Given the description of an element on the screen output the (x, y) to click on. 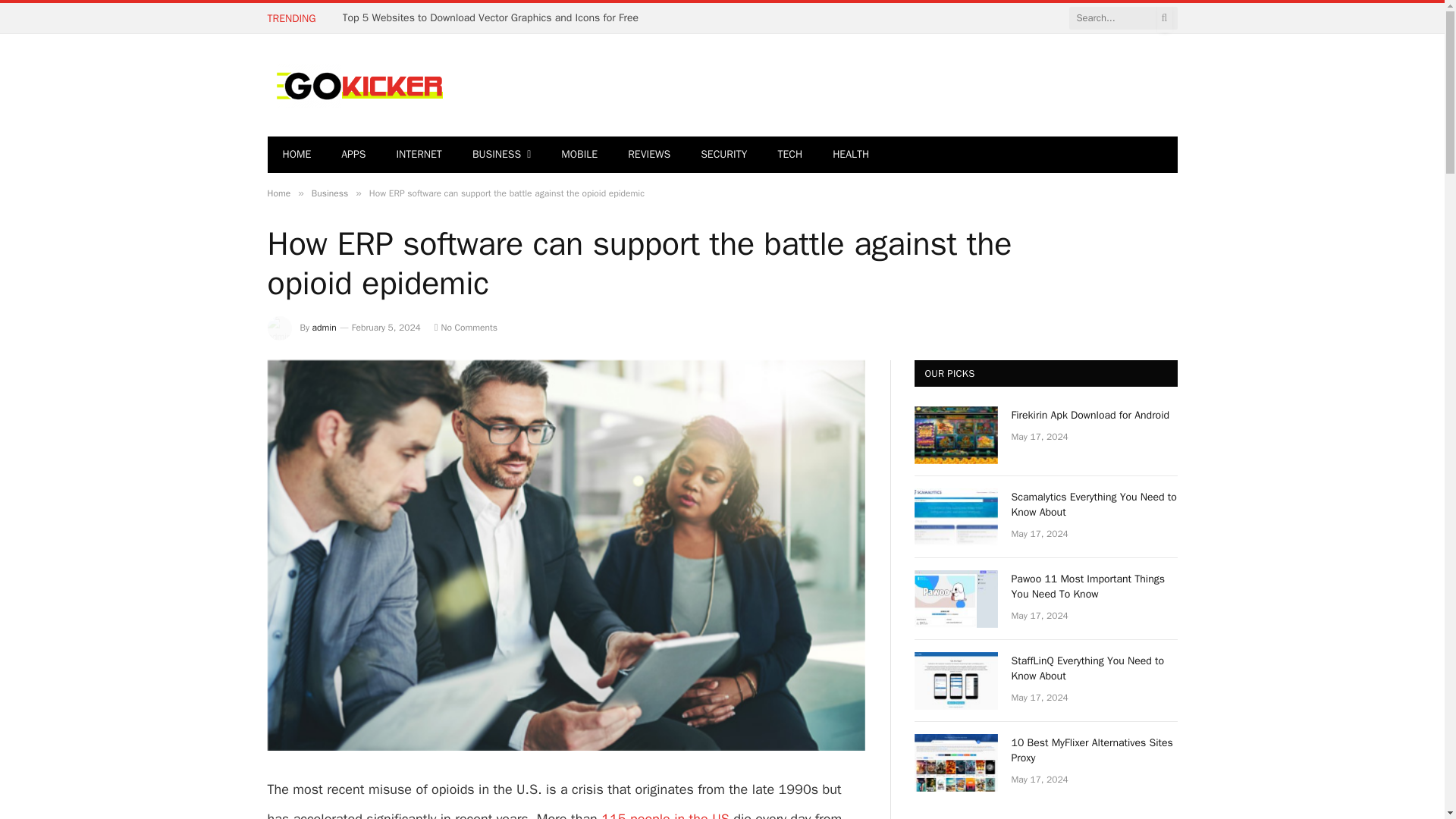
APPS (353, 154)
INTERNET (418, 154)
HOME (296, 154)
Posts by admin (324, 327)
BUSINESS (501, 154)
GoKicker (356, 85)
